Given the description of an element on the screen output the (x, y) to click on. 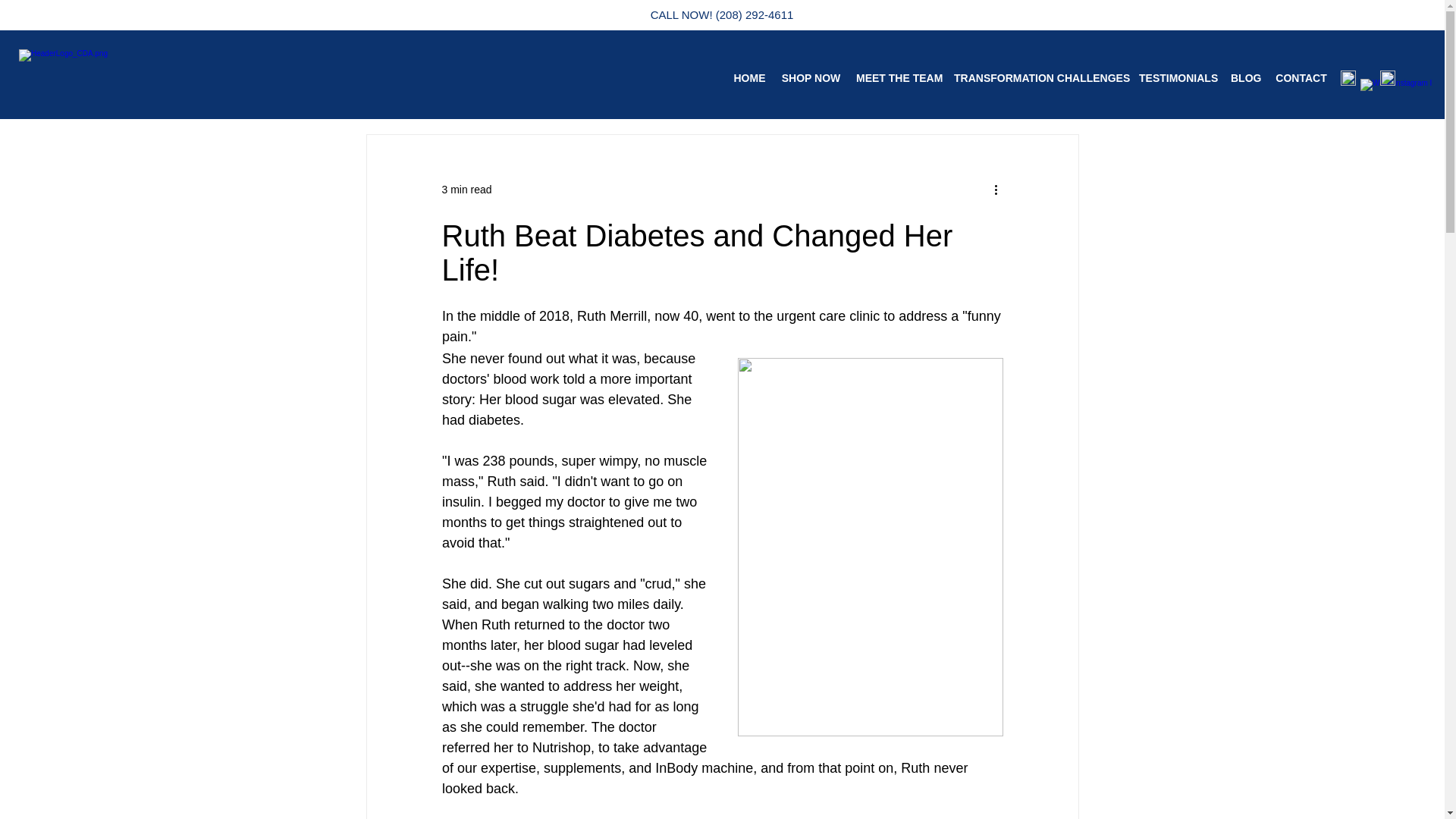
CONTACT (1301, 77)
HOME (749, 77)
TESTIMONIALS (1177, 77)
MEET THE TEAM (897, 77)
BLOG (1245, 77)
3 min read (466, 189)
SHOP NOW (810, 77)
TRANSFORMATION CHALLENGES (1038, 77)
